Given the description of an element on the screen output the (x, y) to click on. 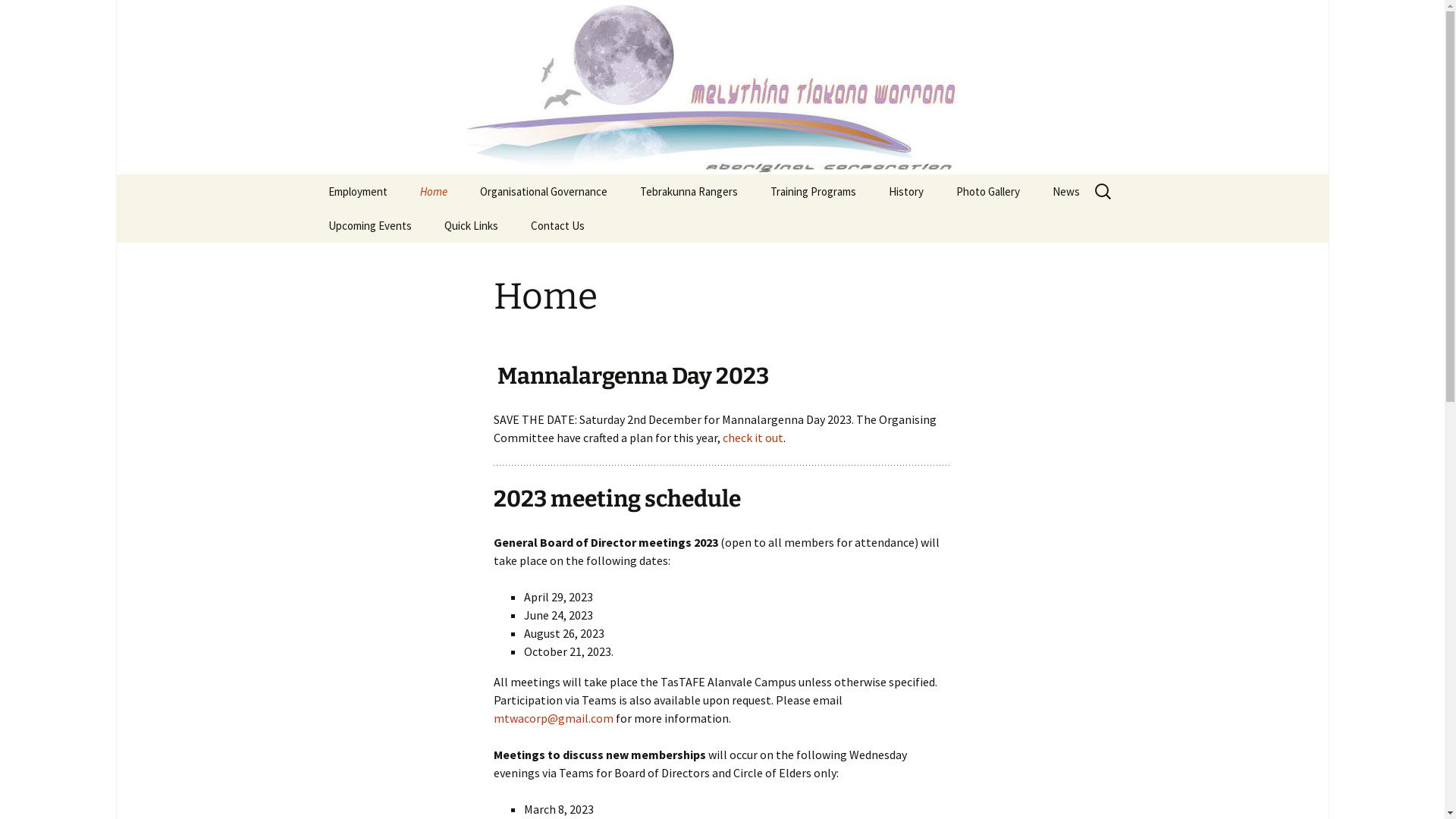
Home Element type: text (433, 191)
Tebrakunna Rangers Element type: text (688, 191)
check it out Element type: text (751, 437)
Search Element type: text (18, 16)
mtwacorp@gmail.com Element type: text (552, 717)
Training Programs Element type: text (813, 191)
News Element type: text (1066, 191)
History Element type: text (905, 191)
Employment Element type: text (356, 191)
Photo Gallery Element type: text (987, 191)
Upcoming Events Element type: text (369, 225)
Quick Links Element type: text (471, 225)
Talking Points Element type: text (1113, 225)
Circle of Elders Element type: text (539, 225)
Organisational Governance Element type: text (542, 191)
Contact Us Element type: text (557, 225)
Skip to content Element type: text (312, 174)
